Given the description of an element on the screen output the (x, y) to click on. 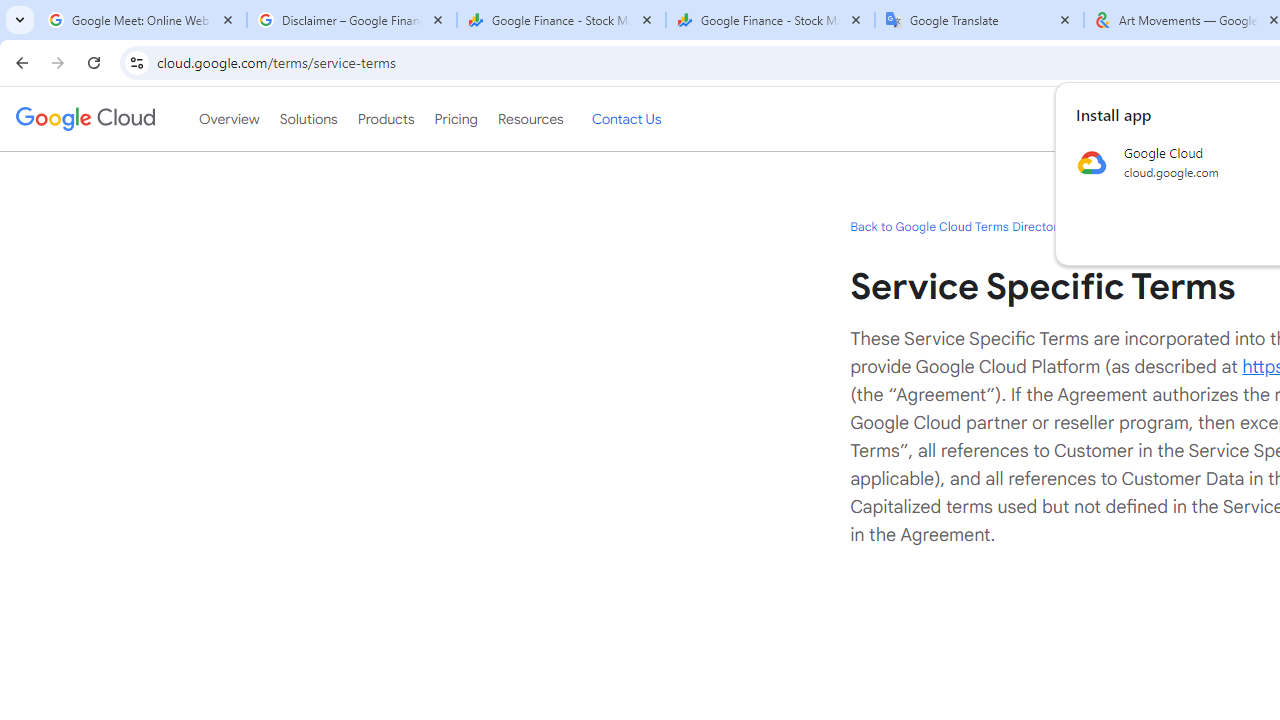
Solutions (308, 119)
Back to Google Cloud Terms Directory (956, 226)
Products (385, 119)
Resources (530, 119)
Pricing (455, 119)
Google Cloud (84, 118)
Google Translate (979, 20)
